Given the description of an element on the screen output the (x, y) to click on. 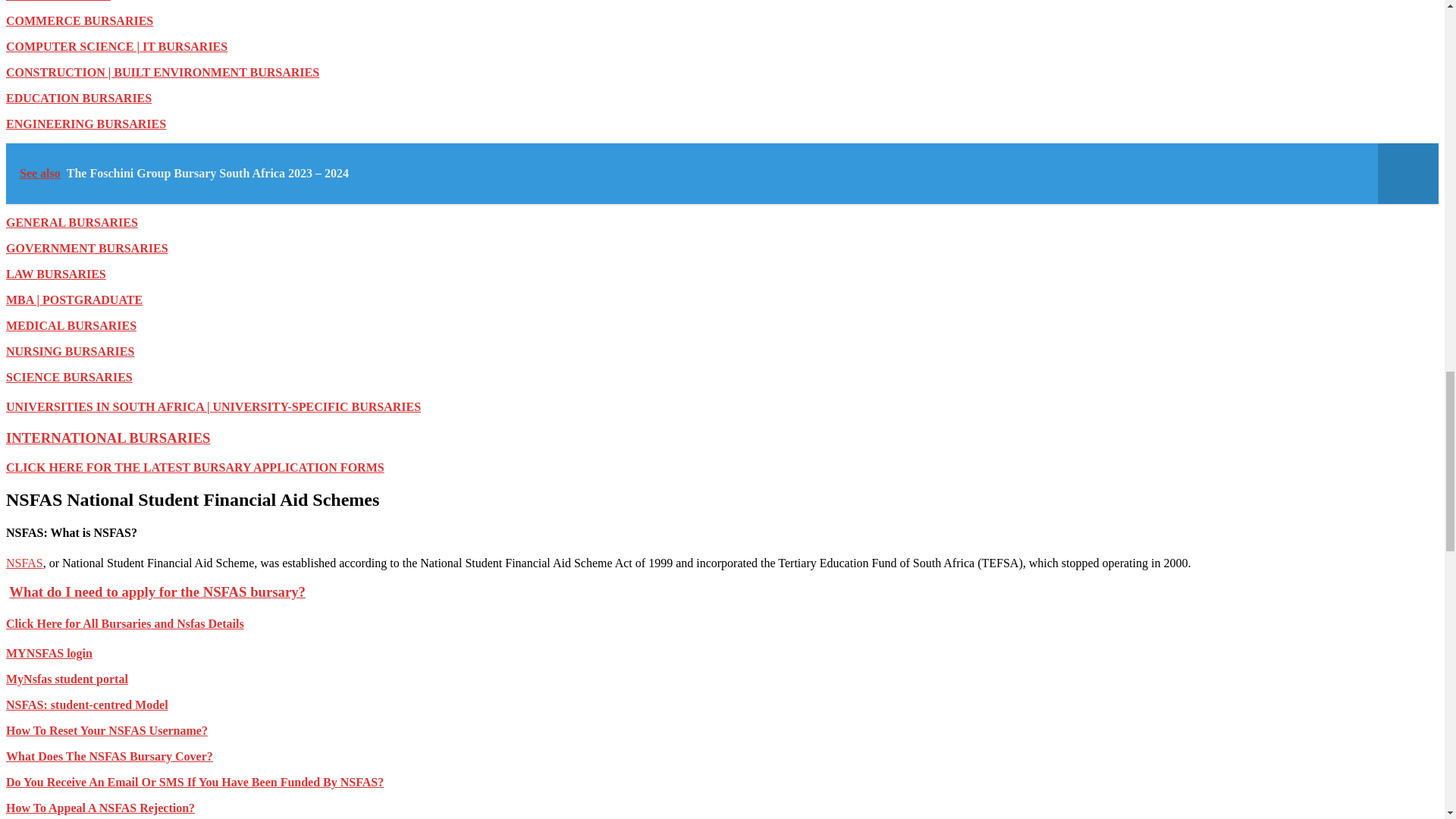
INTERNATIONAL BURSARIES (107, 437)
MEDICAL BURSARIES (70, 325)
GOVERNMENT BURSARIES (86, 247)
ENGINEERING BURSARIES (85, 123)
GENERAL BURSARIES (71, 222)
COMMERCE BURSARIES (78, 20)
LAW BURSARIES (55, 273)
ARTS BURSARIES (57, 0)
SCIENCE BURSARIES (68, 377)
EDUCATION BURSARIES (78, 97)
NURSING BURSARIES (69, 350)
CLICK HERE FOR THE LATEST BURSARY APPLICATION FORMS (194, 467)
